Given the description of an element on the screen output the (x, y) to click on. 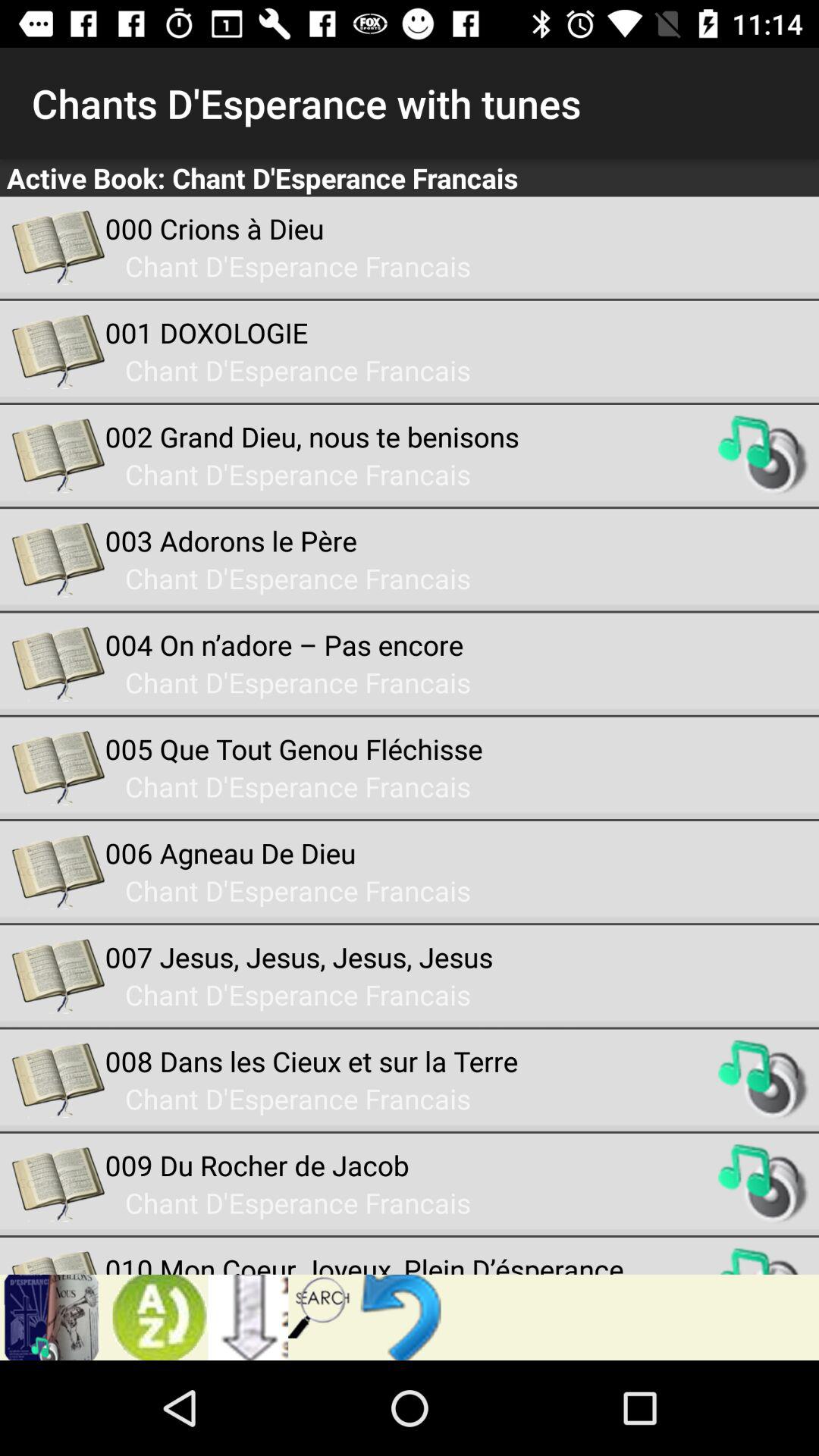
select icon below the 010 mon coeur app (320, 1306)
